Given the description of an element on the screen output the (x, y) to click on. 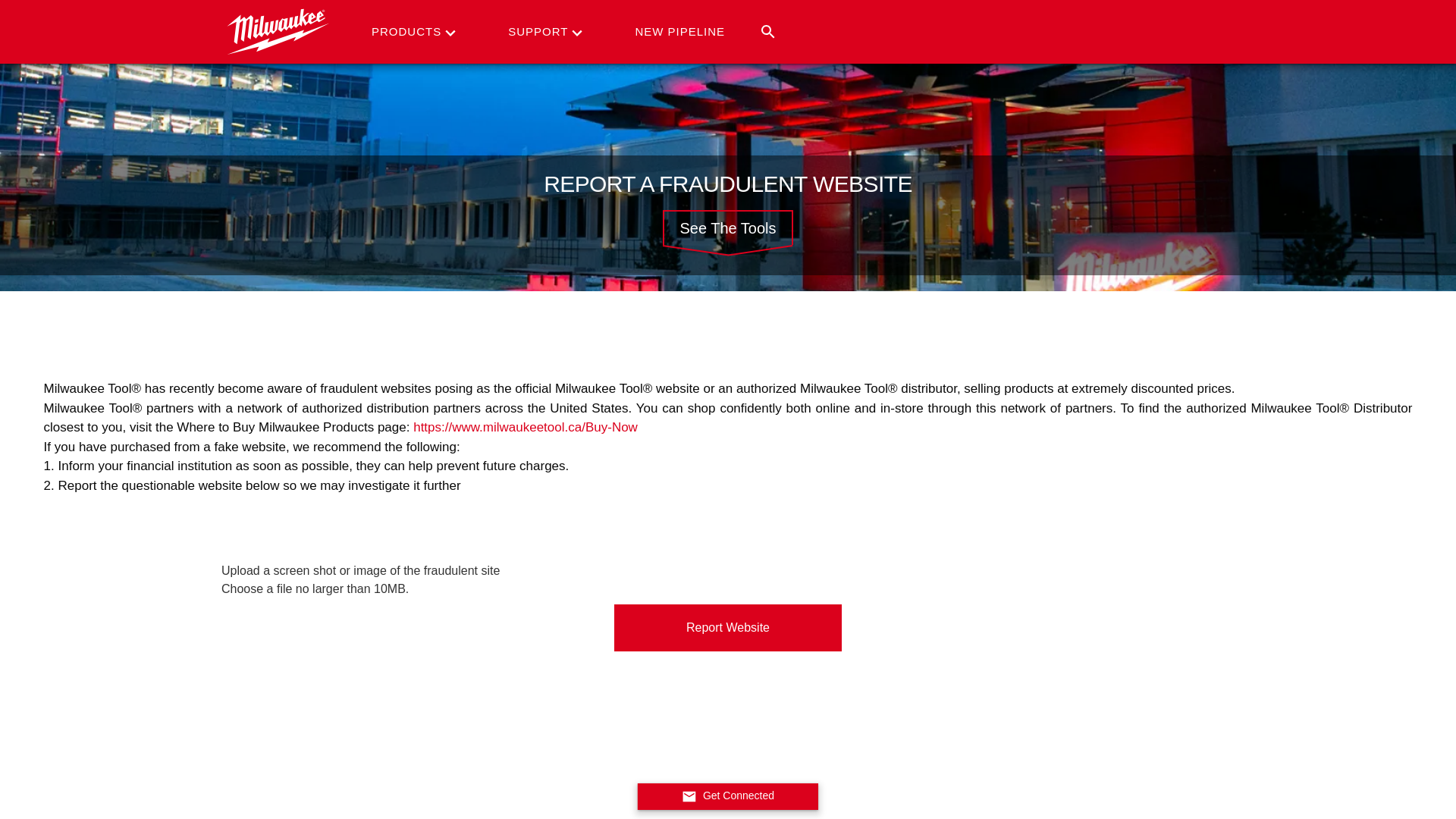
PRODUCTS (409, 31)
Connect (1165, 26)
NEW PIPELINE (682, 31)
Your Account (1165, 6)
SUPPORT (540, 31)
Logout (1165, 48)
